Given the description of an element on the screen output the (x, y) to click on. 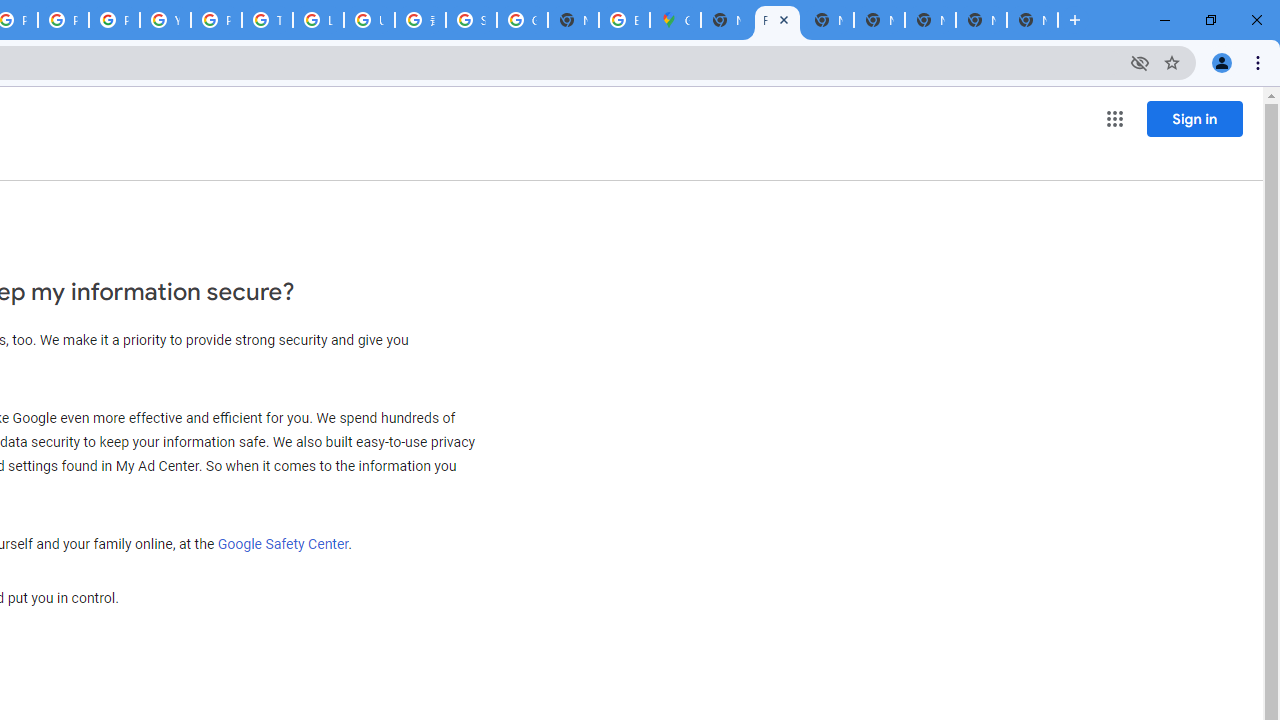
Google Maps (675, 20)
Sign in - Google Accounts (470, 20)
New Tab (726, 20)
Privacy Help Center - Policies Help (63, 20)
Google Safety Center (283, 543)
Tips & tricks for Chrome - Google Chrome Help (267, 20)
YouTube (164, 20)
